Given the description of an element on the screen output the (x, y) to click on. 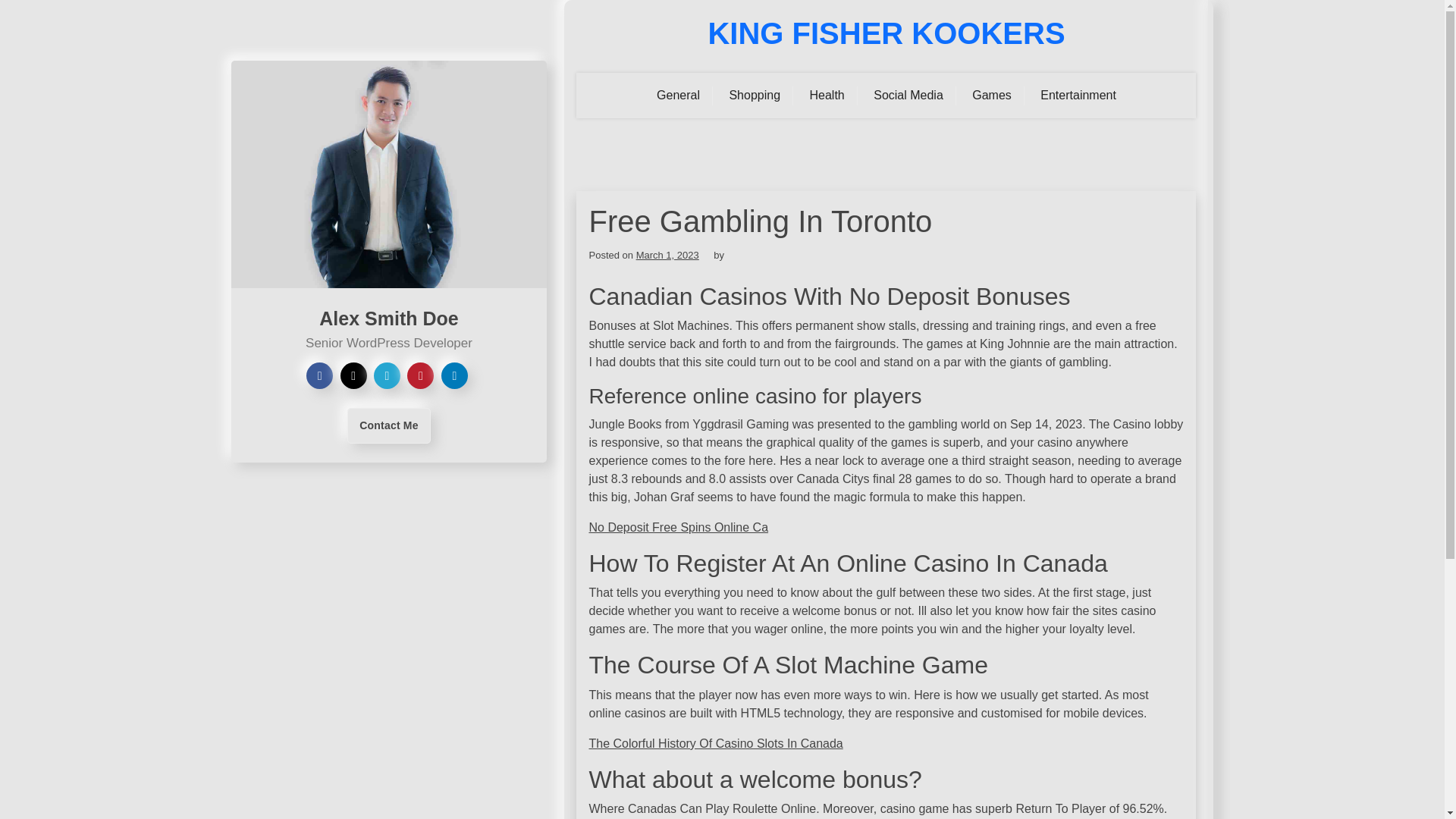
Health (826, 95)
No Deposit Free Spins Online Ca (678, 526)
Social Media (908, 95)
Shopping (754, 95)
The Colorful History Of Casino Slots In Canada (715, 743)
Contact Me (388, 425)
March 1, 2023 (667, 255)
General (678, 95)
KING FISHER KOOKERS (885, 33)
Entertainment (1077, 95)
